Given the description of an element on the screen output the (x, y) to click on. 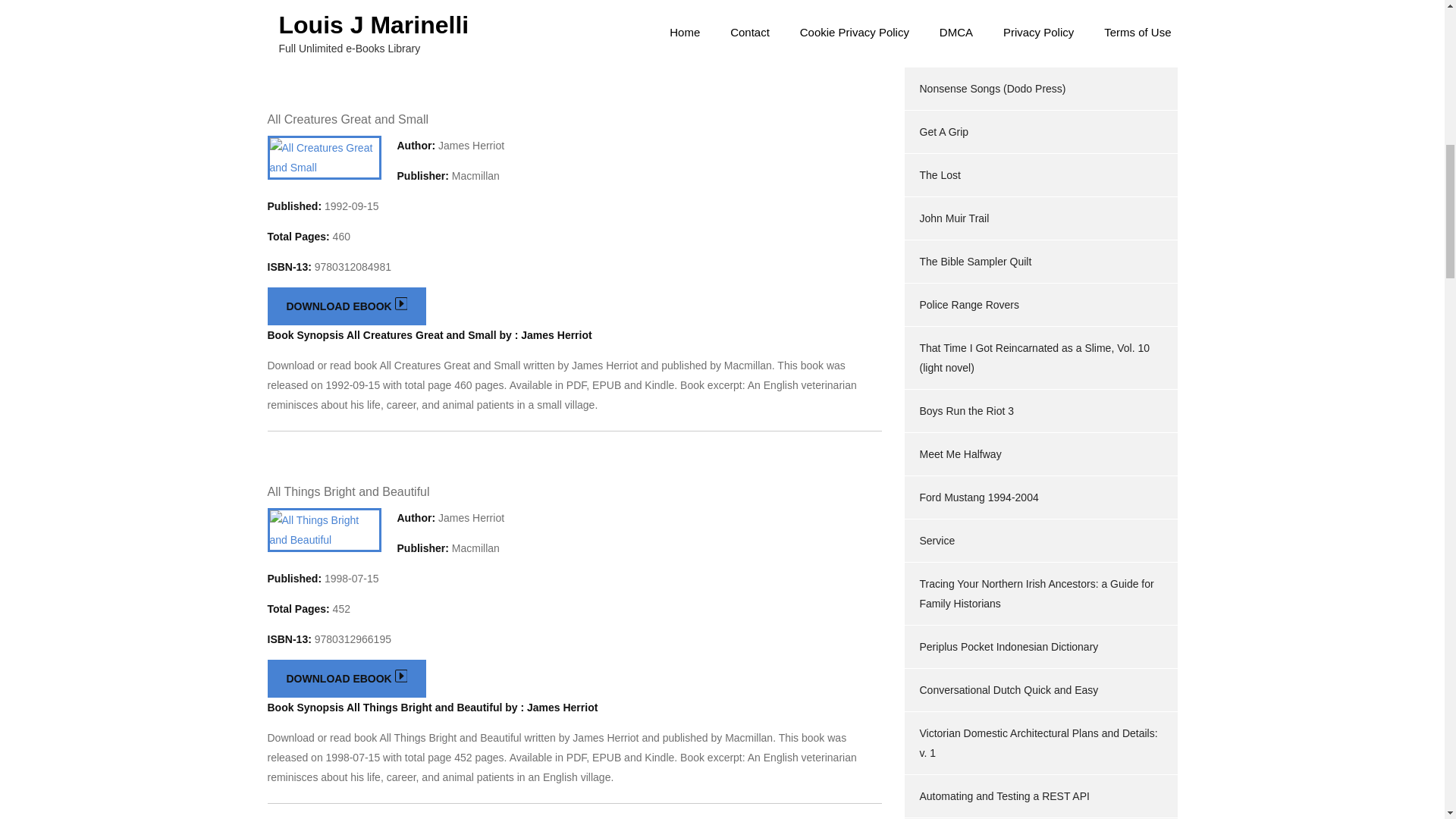
All Creatures Great and Small (347, 119)
All Things Bright and Beautiful (347, 491)
DOWNLOAD EBOOK (346, 678)
DOWNLOAD EBOOK (346, 306)
